Given the description of an element on the screen output the (x, y) to click on. 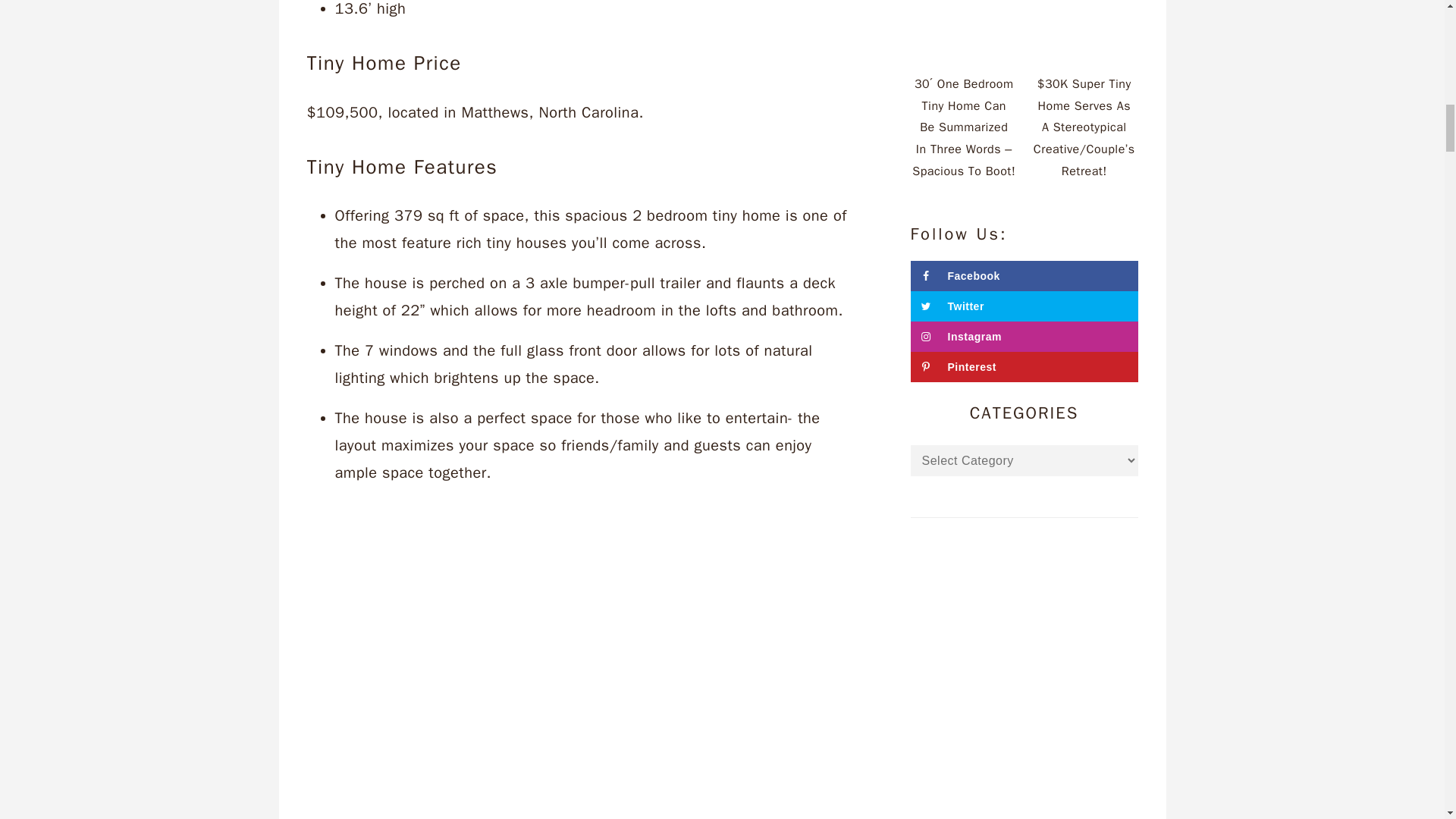
Follow on Facebook (1023, 276)
Follow on Instagram (1023, 336)
Follow on Pinterest (1023, 367)
Follow on Twitter (1023, 306)
